Given the description of an element on the screen output the (x, y) to click on. 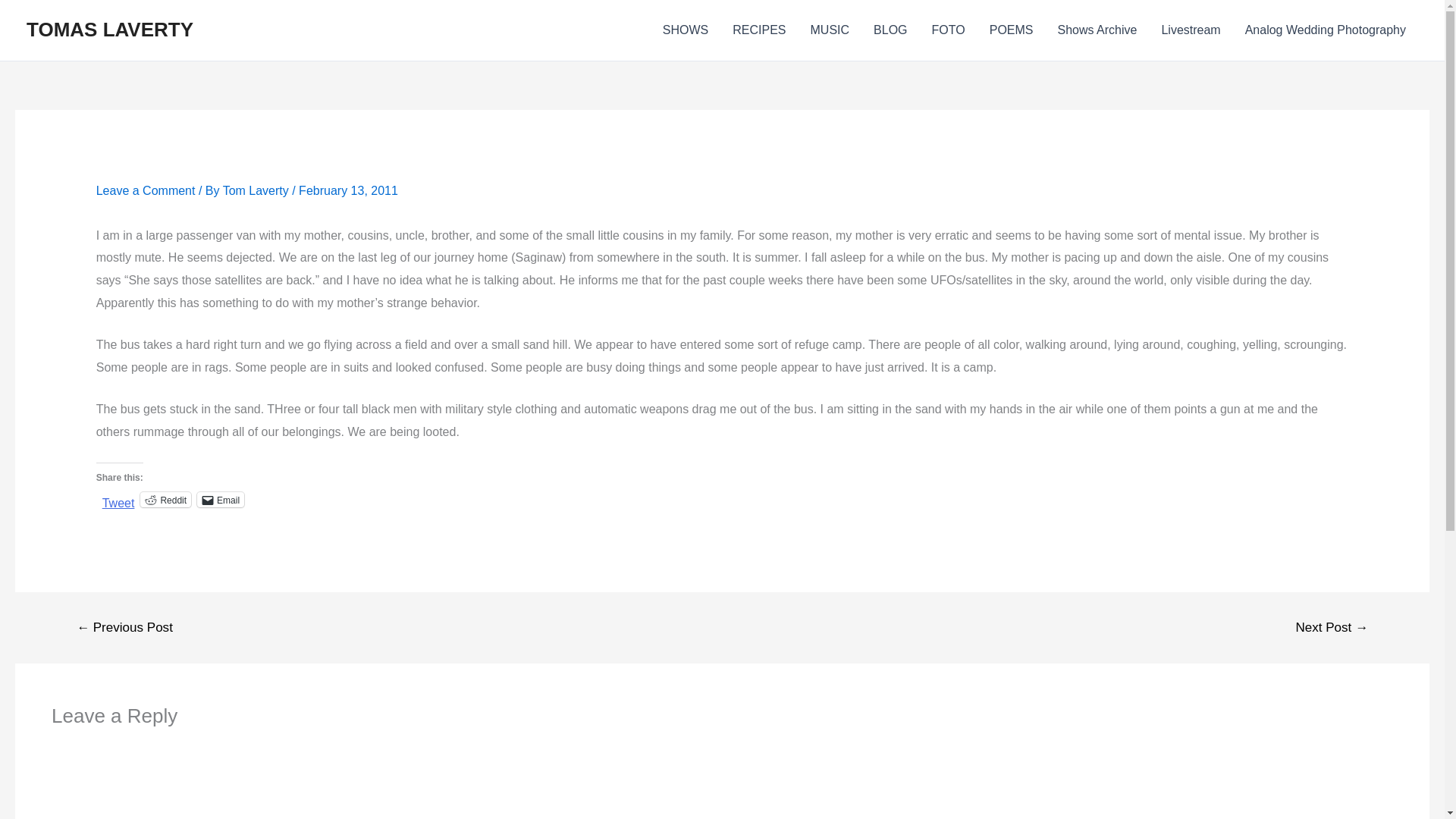
BLOG (889, 30)
Tweet (118, 499)
Leave a Comment (145, 190)
Email (220, 499)
Livestream (1189, 30)
POEMS (1010, 30)
FOTO (948, 30)
Tom Laverty (257, 190)
Click to email a link to a friend (220, 499)
Click to share on Reddit (164, 499)
